Given the description of an element on the screen output the (x, y) to click on. 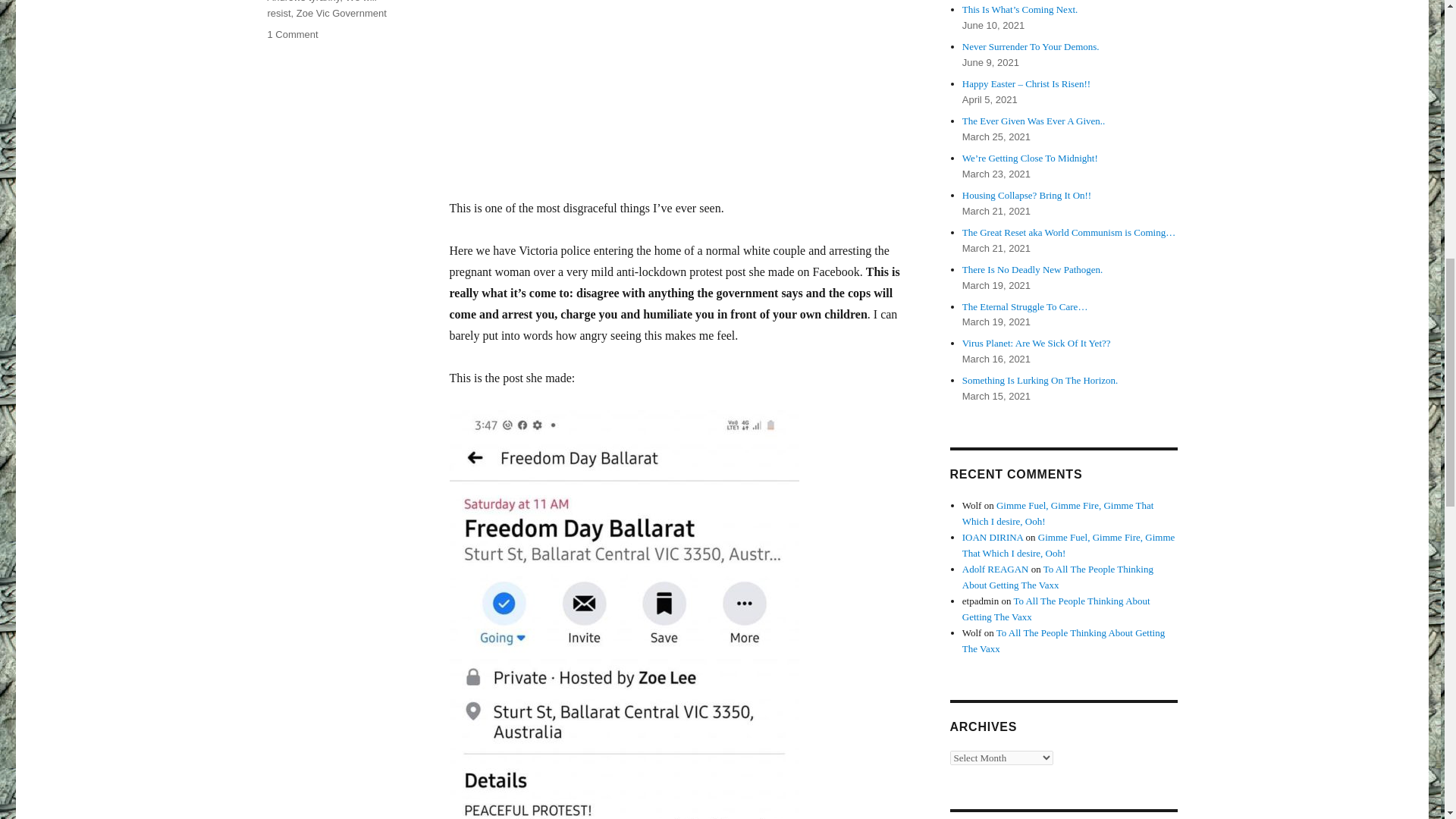
To All The People Thinking About Getting The Vaxx (1056, 608)
Dan Andrews tyranny (331, 1)
There Is No Deadly New Pathogen. (1032, 269)
To All The People Thinking About Getting The Vaxx (1057, 576)
IOAN DIRINA (992, 536)
Never Surrender To Your Demons. (1030, 46)
Gimme Fuel, Gimme Fire, Gimme That Which I desire, Ooh! (1068, 544)
Gimme Fuel, Gimme Fire, Gimme That Which I desire, Ooh! (1058, 513)
Something Is Lurking On The Horizon. (1040, 379)
The Ever Given Was Ever A Given.. (1033, 120)
